Given the description of an element on the screen output the (x, y) to click on. 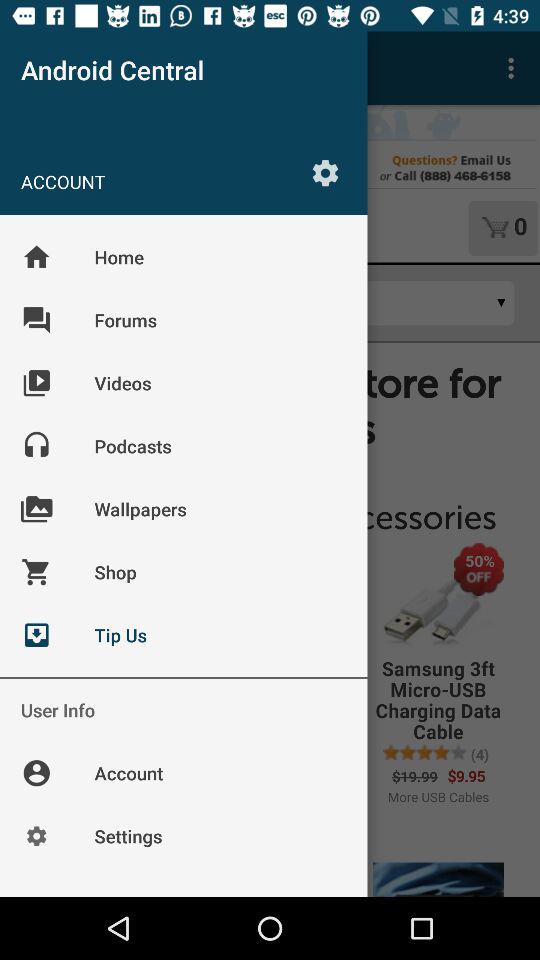
click the setting icon (326, 172)
select the text which is left side of the settings (163, 181)
